Given the description of an element on the screen output the (x, y) to click on. 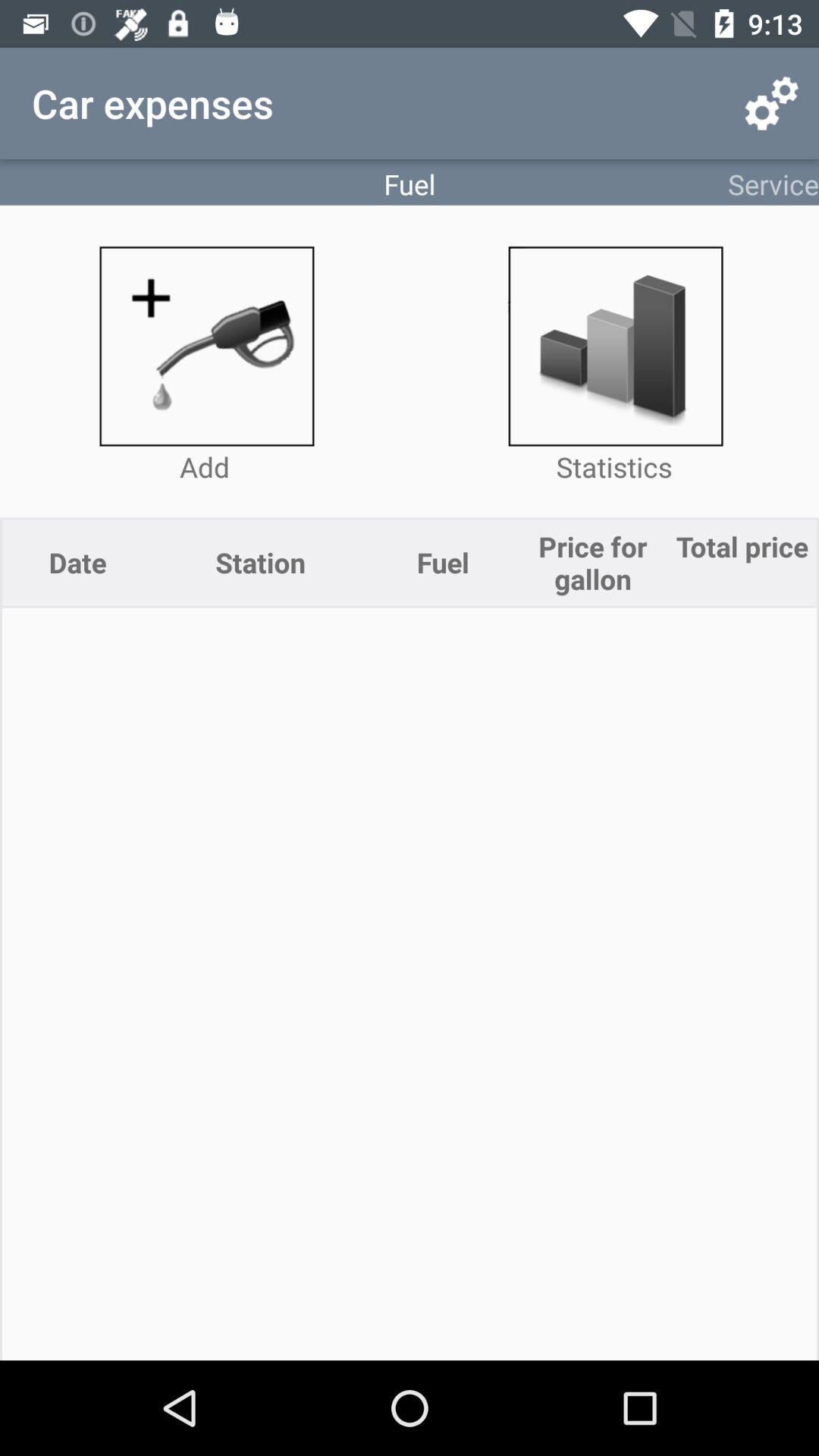
select statistics (613, 345)
